Given the description of an element on the screen output the (x, y) to click on. 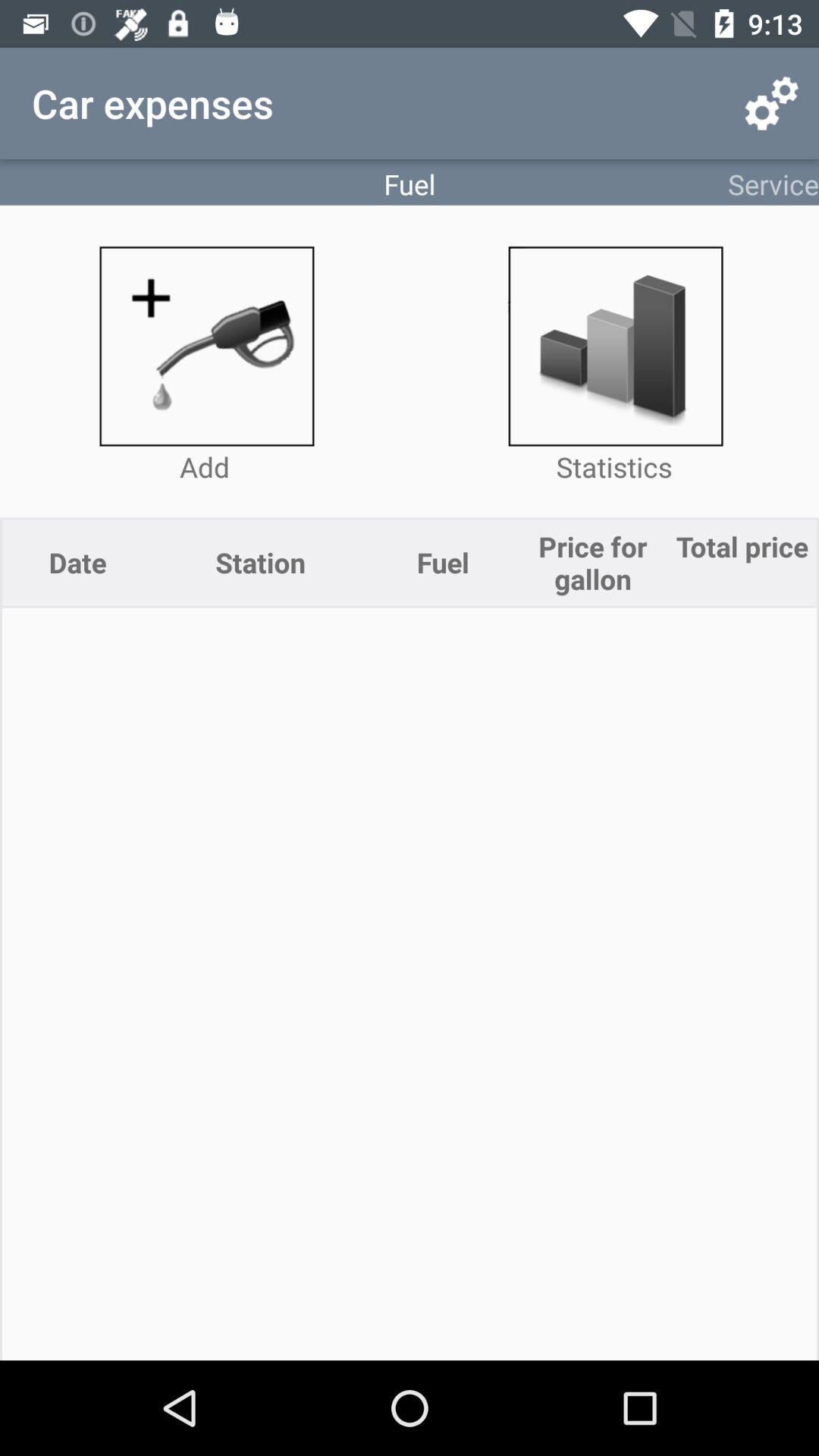
select statistics (613, 345)
